Given the description of an element on the screen output the (x, y) to click on. 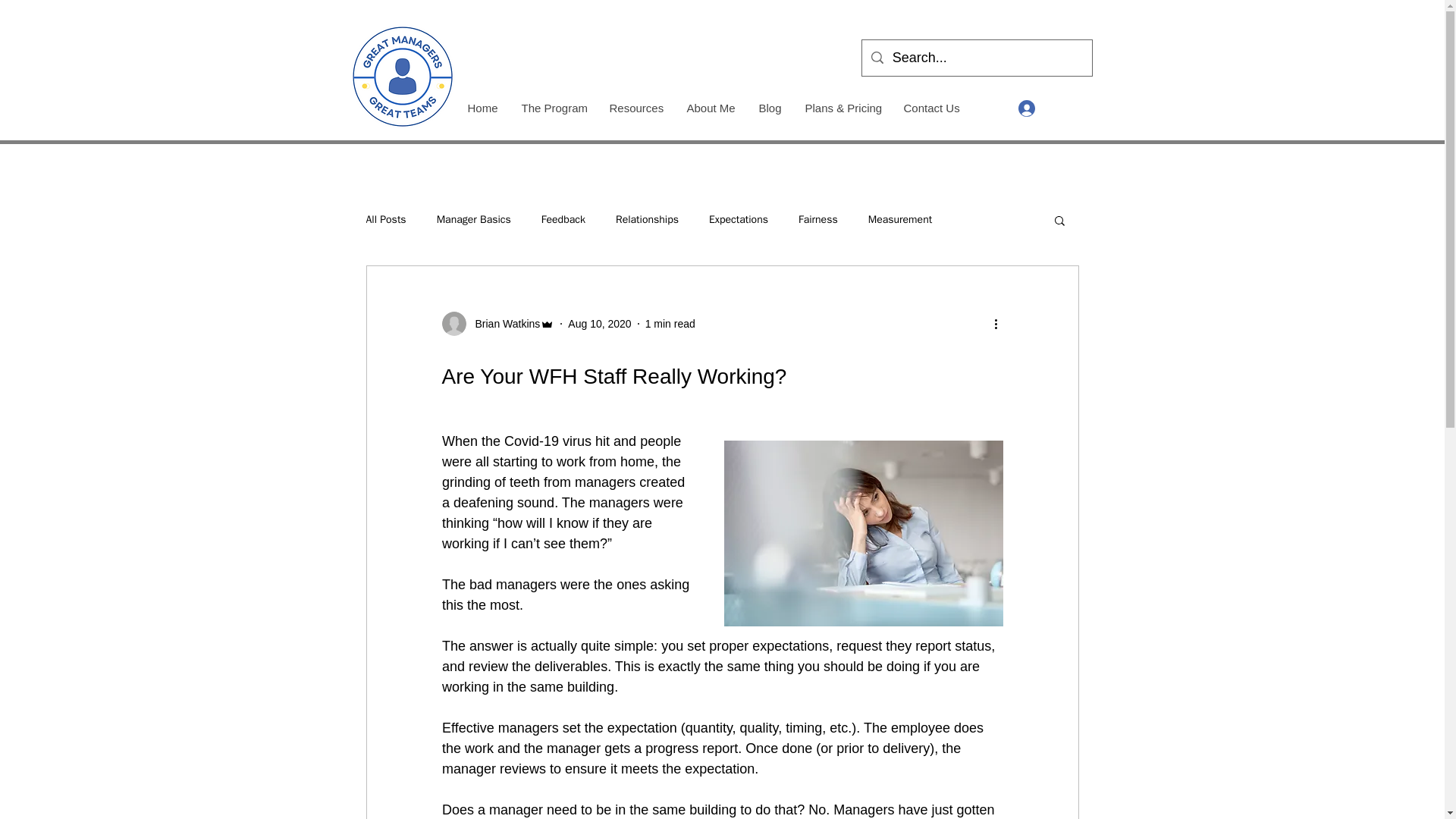
Home (481, 108)
Feedback (563, 219)
Manager Basics (473, 219)
Blog (768, 108)
About Me (710, 108)
Measurement (899, 219)
Brian Watkins (497, 323)
Resources (635, 108)
Fairness (817, 219)
All Posts (385, 219)
